Given the description of an element on the screen output the (x, y) to click on. 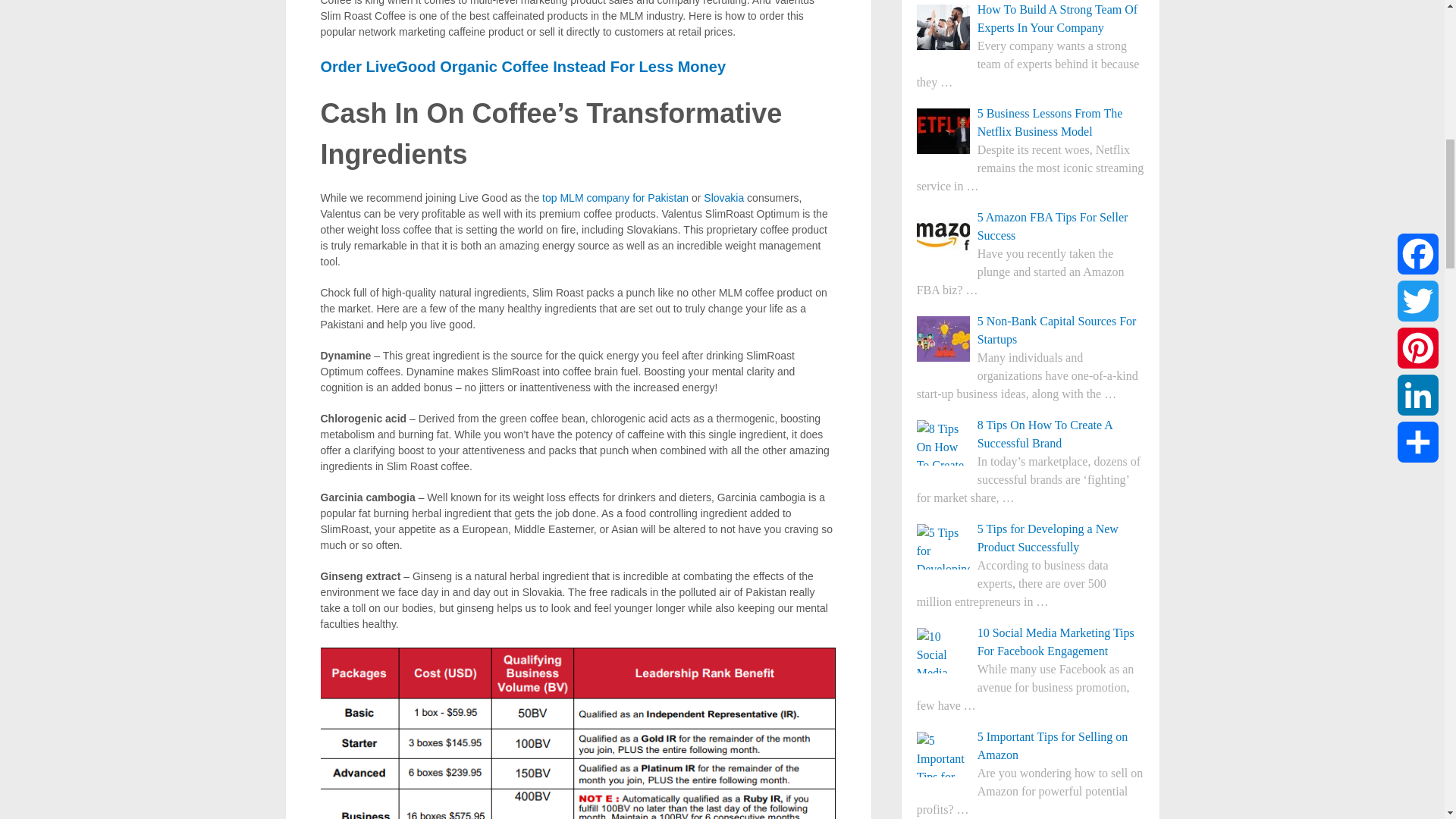
top MLM company for Pakistan (614, 197)
Slovakia (723, 197)
Order LiveGood Organic Coffee Instead For Less Money (522, 66)
